Given the description of an element on the screen output the (x, y) to click on. 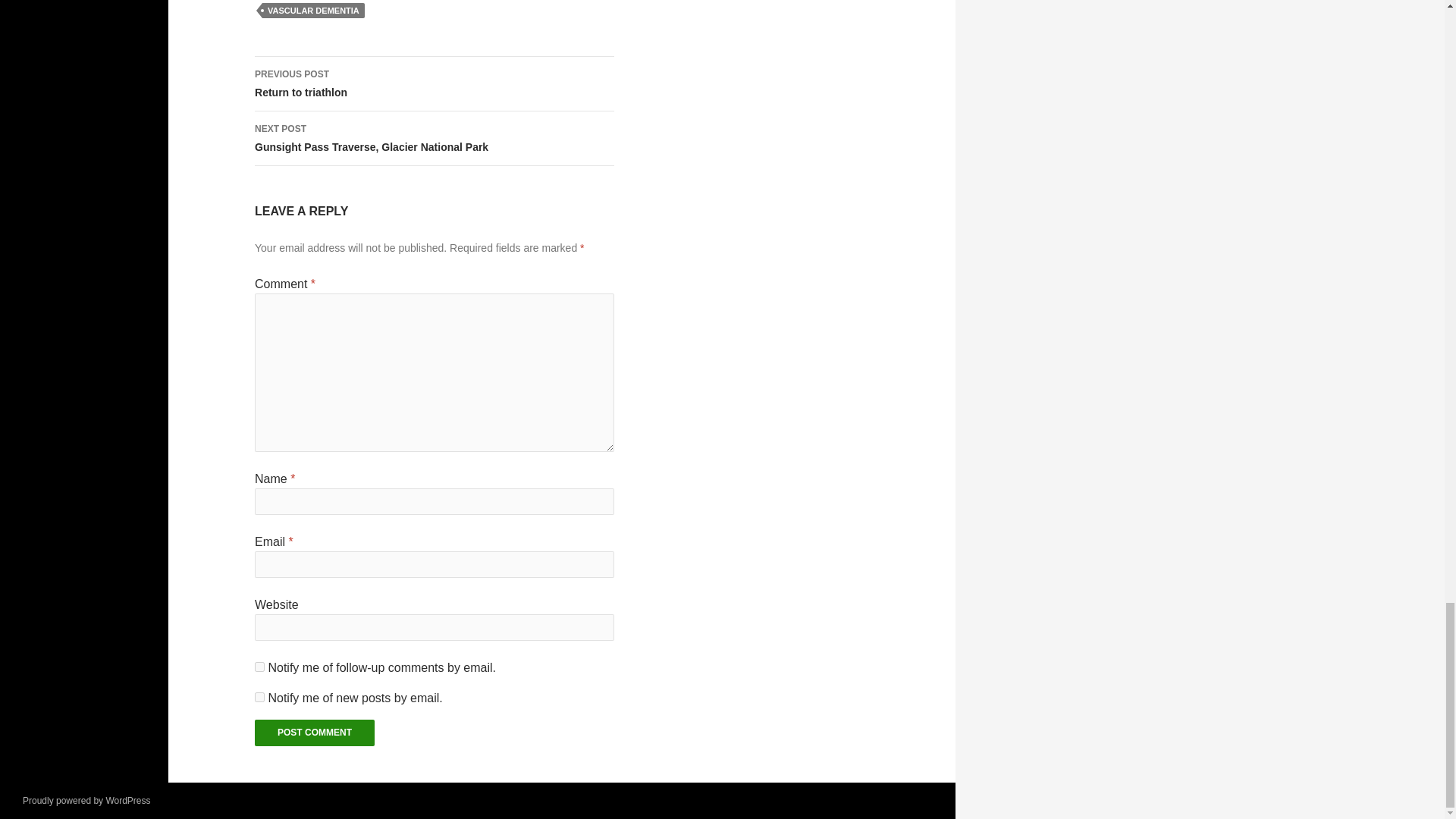
Post Comment (314, 732)
VASCULAR DEMENTIA (434, 83)
subscribe (313, 10)
Post Comment (434, 138)
subscribe (259, 666)
